Given the description of an element on the screen output the (x, y) to click on. 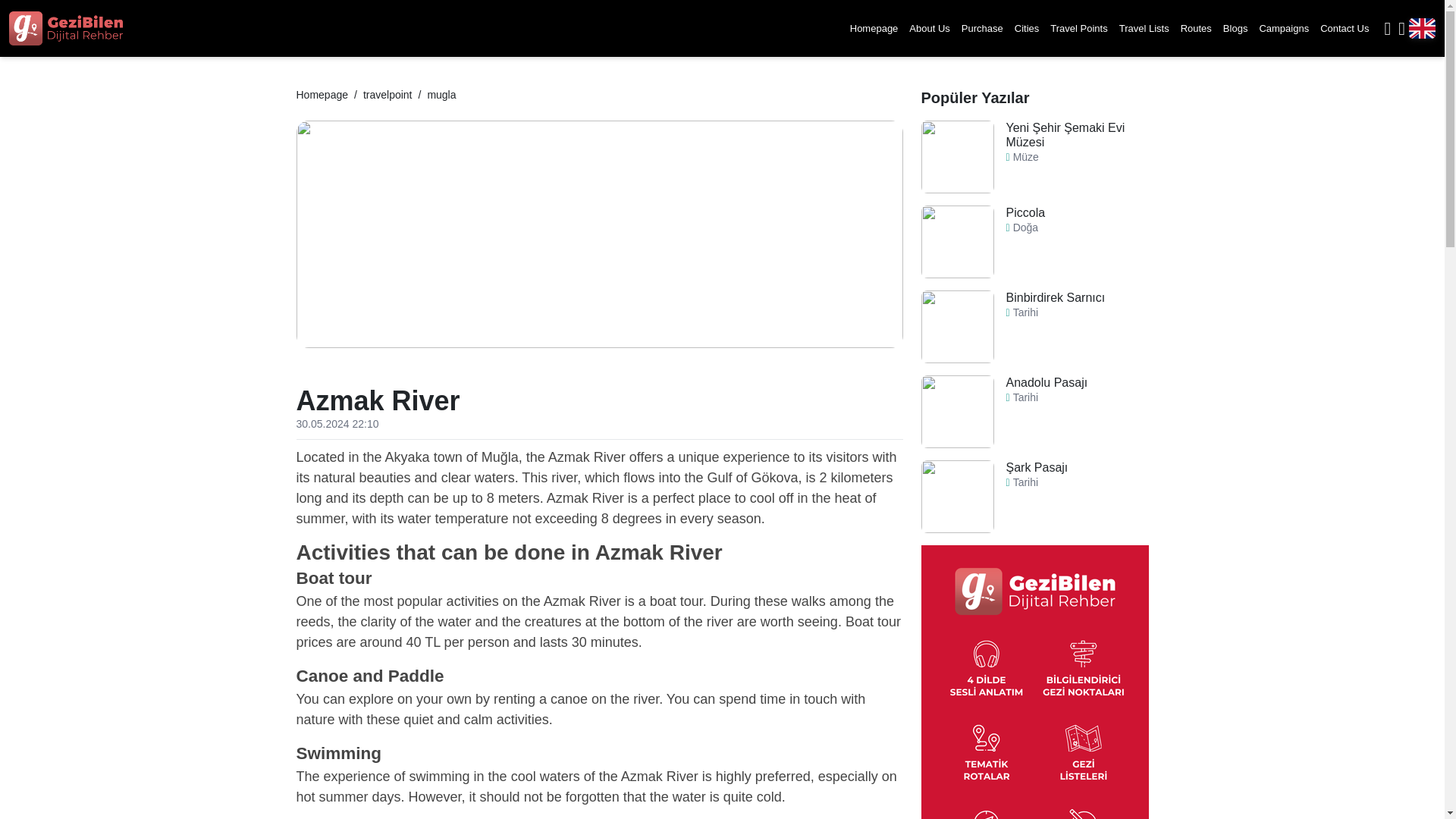
Travel Points (1077, 28)
Travel Points (1077, 28)
Homepage (321, 94)
travelpoint (387, 94)
GeziBilen (65, 28)
